Given the description of an element on the screen output the (x, y) to click on. 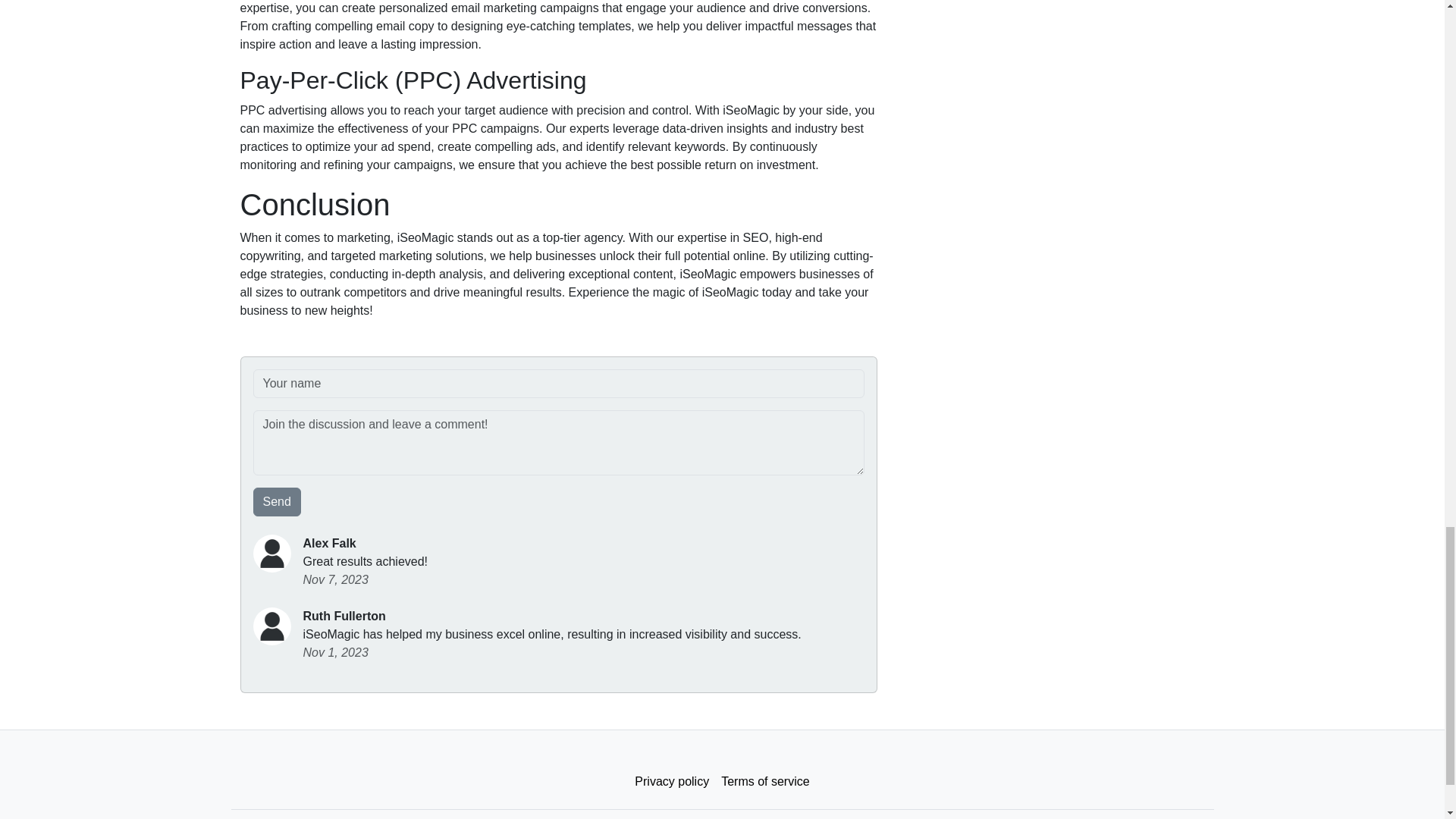
Send (277, 501)
Terms of service (764, 781)
Privacy policy (671, 781)
Send (277, 501)
